Given the description of an element on the screen output the (x, y) to click on. 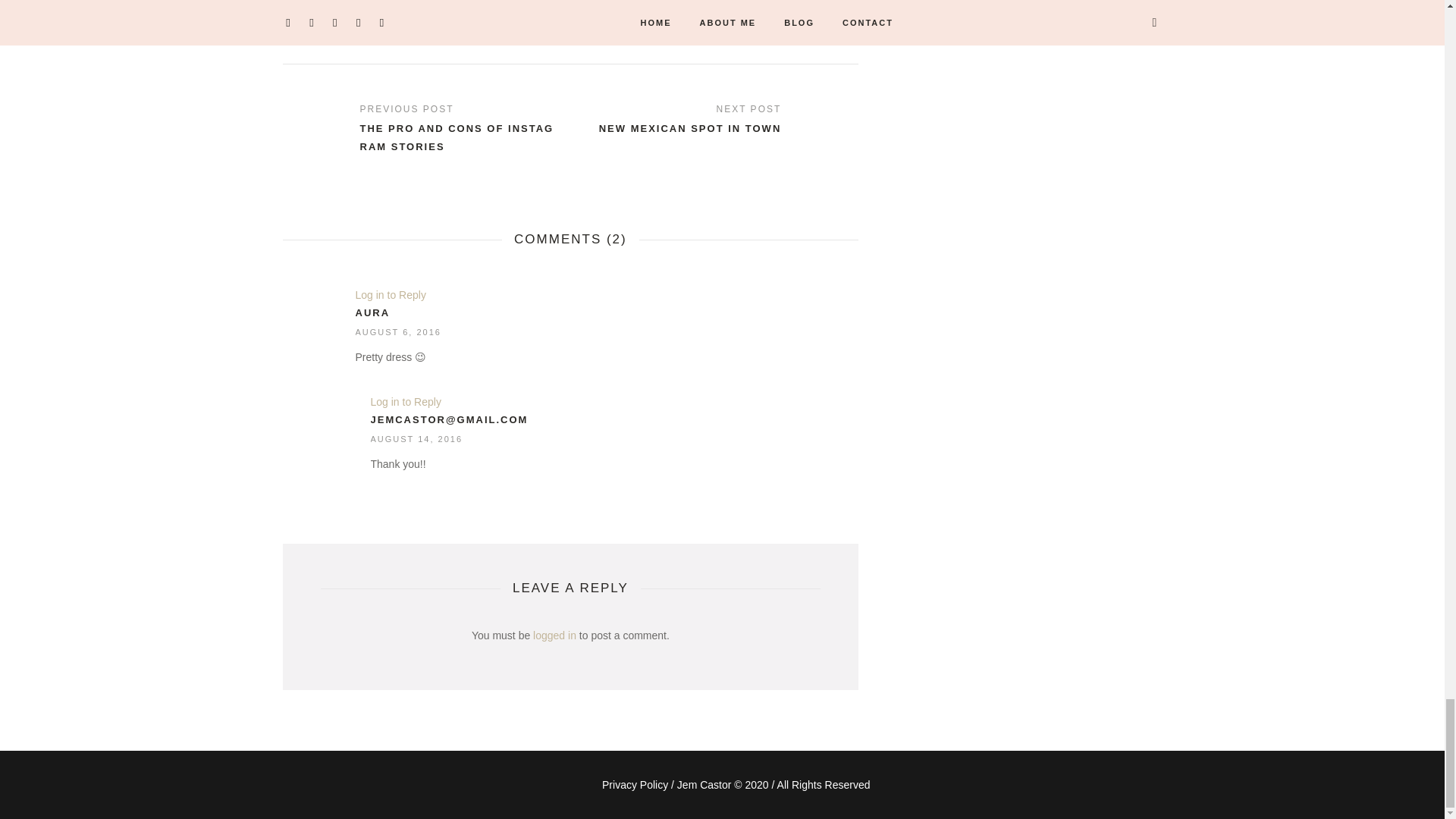
August 14, 2016 (416, 439)
Log in to Reply (390, 295)
logged in (554, 635)
0 (385, 39)
Comment on Splash of Pink Meets Fringe (320, 39)
2 COMMENTS (320, 39)
August 6, 2016 (398, 331)
Log in to Reply (405, 401)
